Given the description of an element on the screen output the (x, y) to click on. 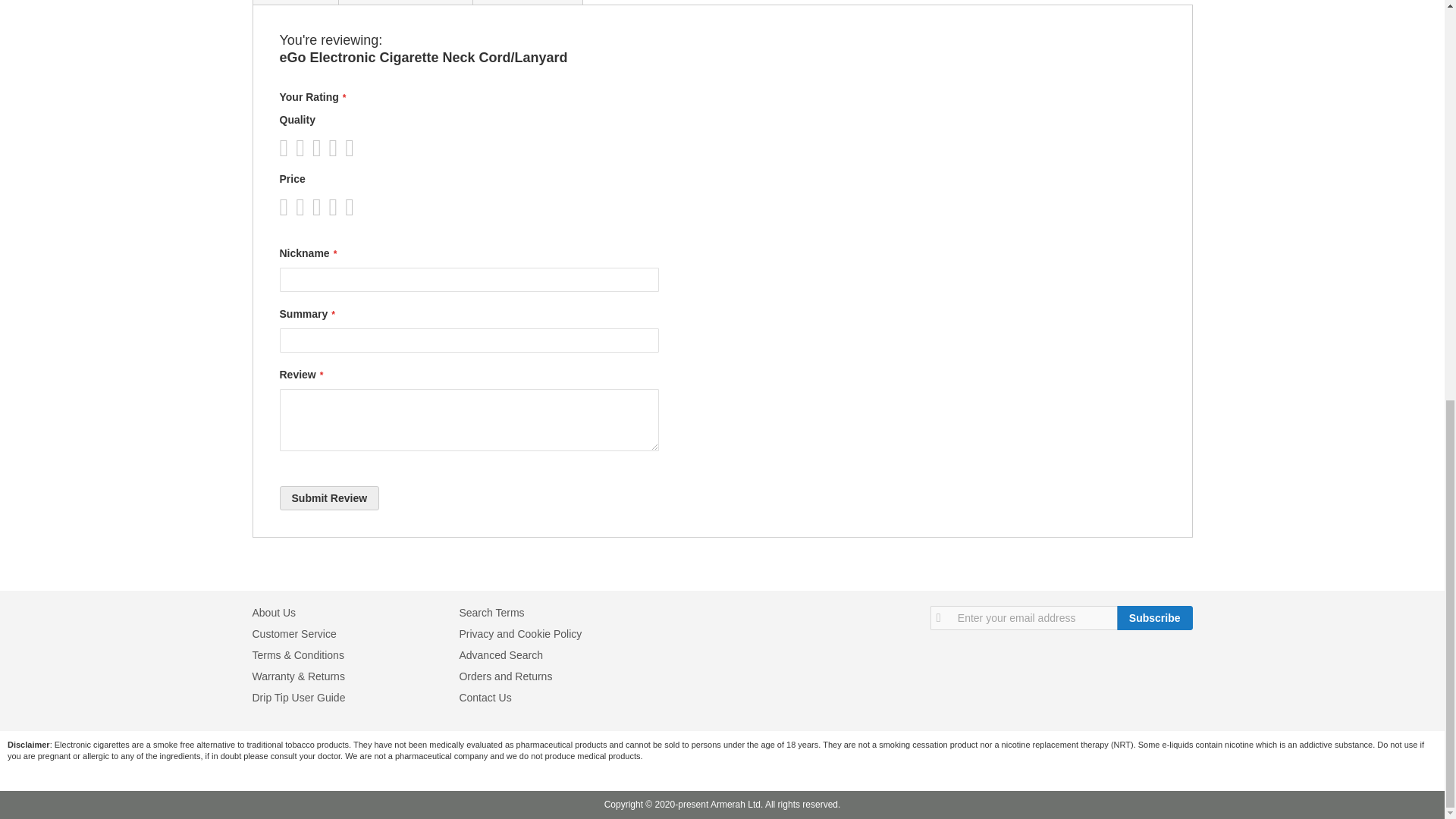
2 stars (295, 206)
4 stars (312, 206)
Subscribe (1154, 617)
3 stars (304, 206)
2 stars (295, 147)
5 stars (320, 147)
